Given the description of an element on the screen output the (x, y) to click on. 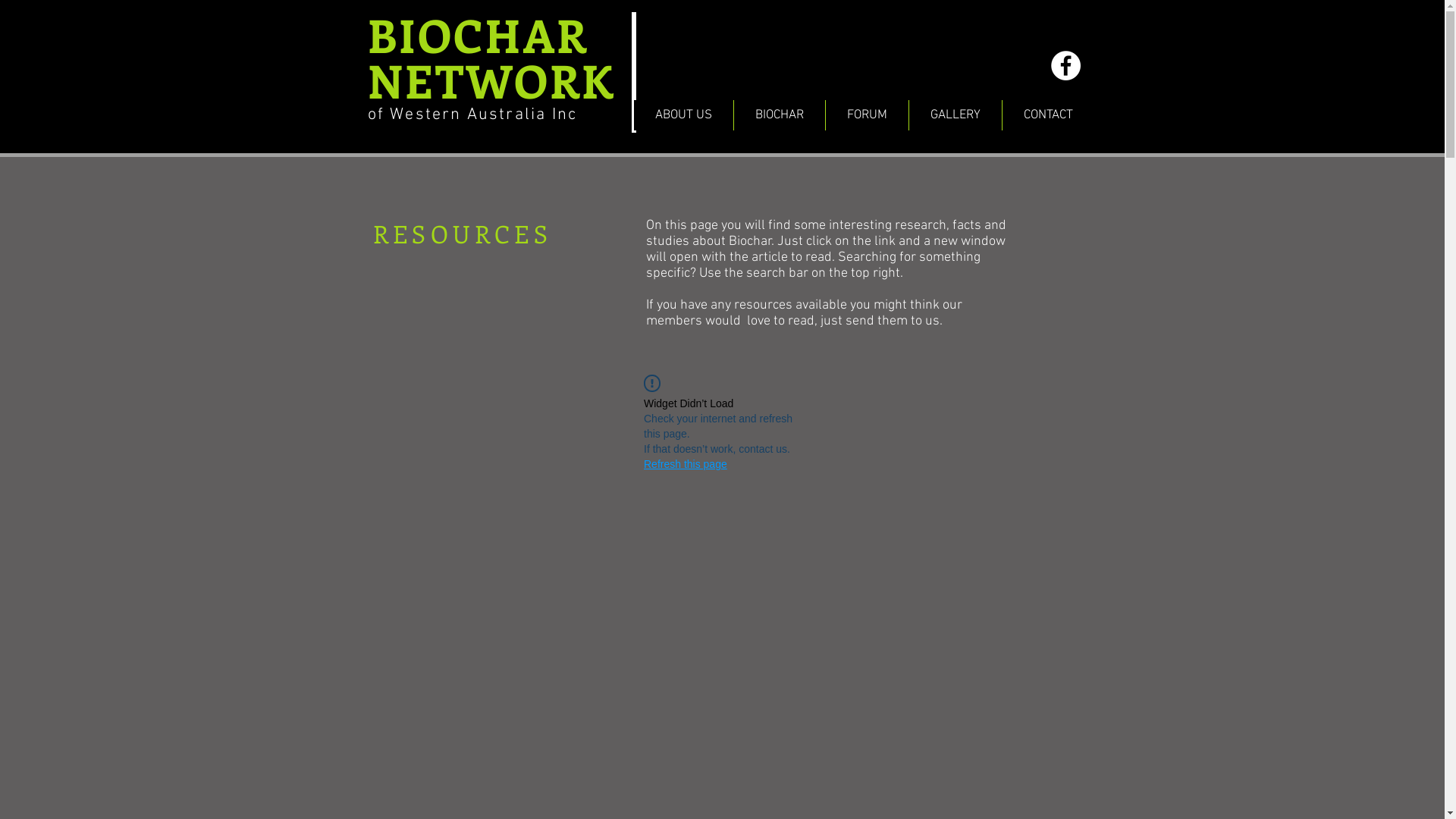
CONTACT Element type: text (1047, 115)
FORUM Element type: text (866, 115)
BIOCHAR Element type: text (477, 34)
NETWORK Element type: text (490, 79)
of Western Australia Inc Element type: text (472, 114)
GALLERY Element type: text (954, 115)
Refresh this page Element type: text (685, 463)
